Given the description of an element on the screen output the (x, y) to click on. 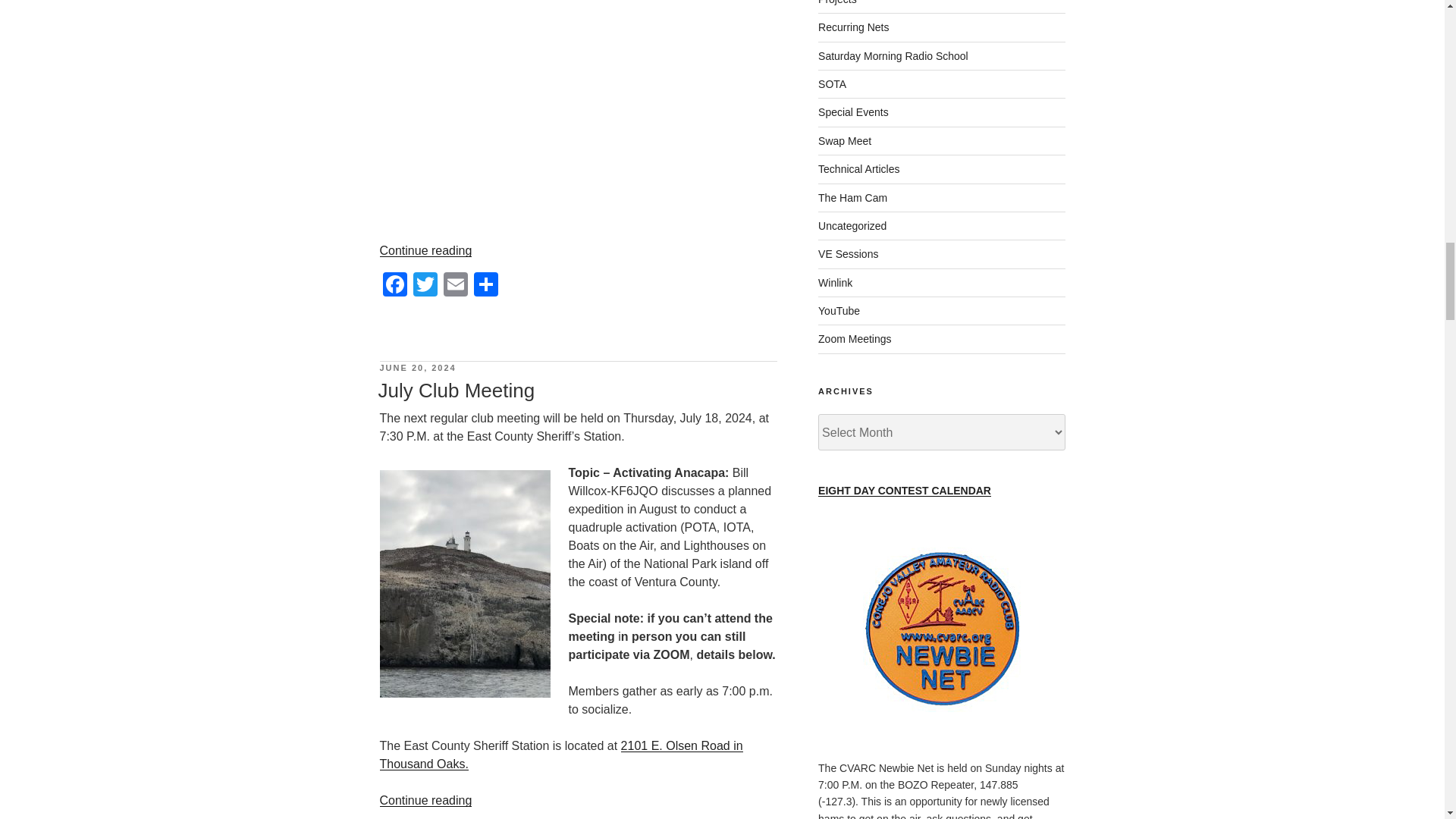
Email (454, 285)
Field Day 2024 (577, 112)
Facebook (393, 285)
Twitter (424, 285)
